Given the description of an element on the screen output the (x, y) to click on. 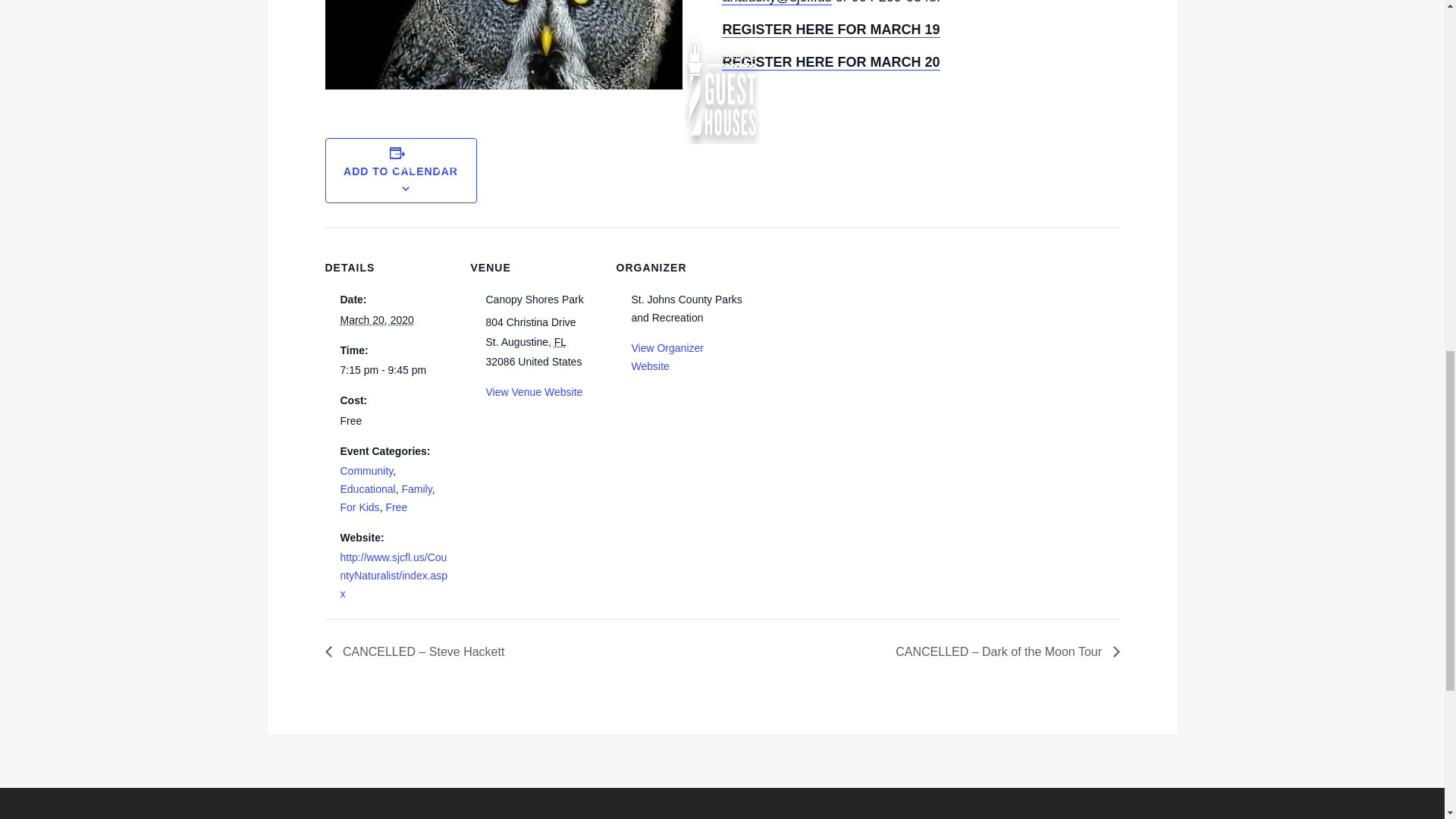
REGISTER HERE FOR MARCH 19 (830, 29)
Community (366, 470)
ADD TO CALENDAR (400, 171)
2020-03-20 (376, 319)
Family (415, 489)
View Venue Website (533, 391)
For Kids (358, 507)
Educational (366, 489)
Florida (560, 341)
Free (396, 507)
REGISTER HERE FOR MARCH 20 (830, 62)
2020-03-20 (395, 370)
